Given the description of an element on the screen output the (x, y) to click on. 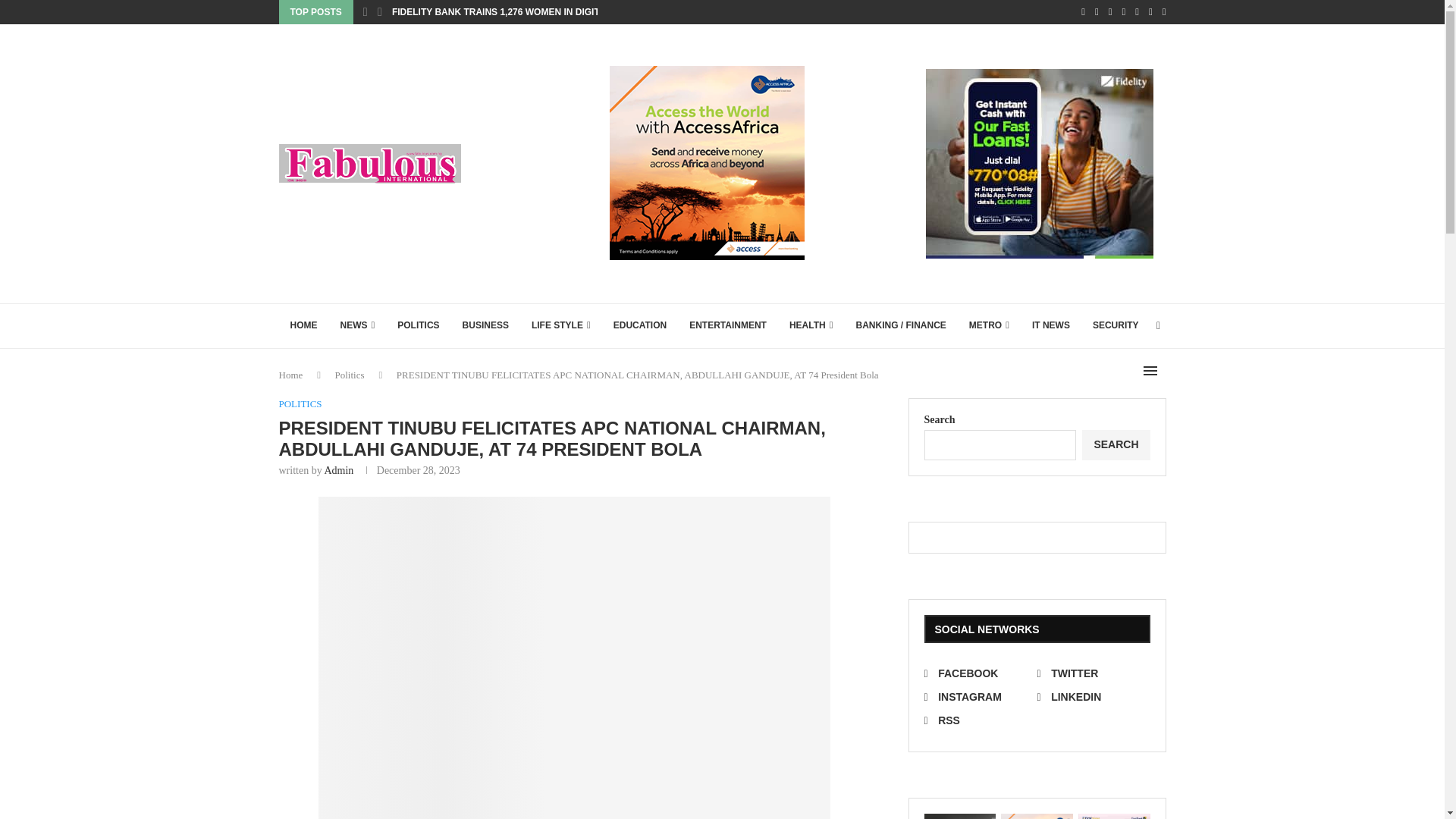
POLITICS (417, 325)
NEWS (358, 325)
BUSINESS (485, 325)
HOME (304, 325)
FIDELITY BANK TRAINS 1,276 WOMEN IN DIGITAL AND... (515, 12)
LIFE STYLE (560, 325)
